Given the description of an element on the screen output the (x, y) to click on. 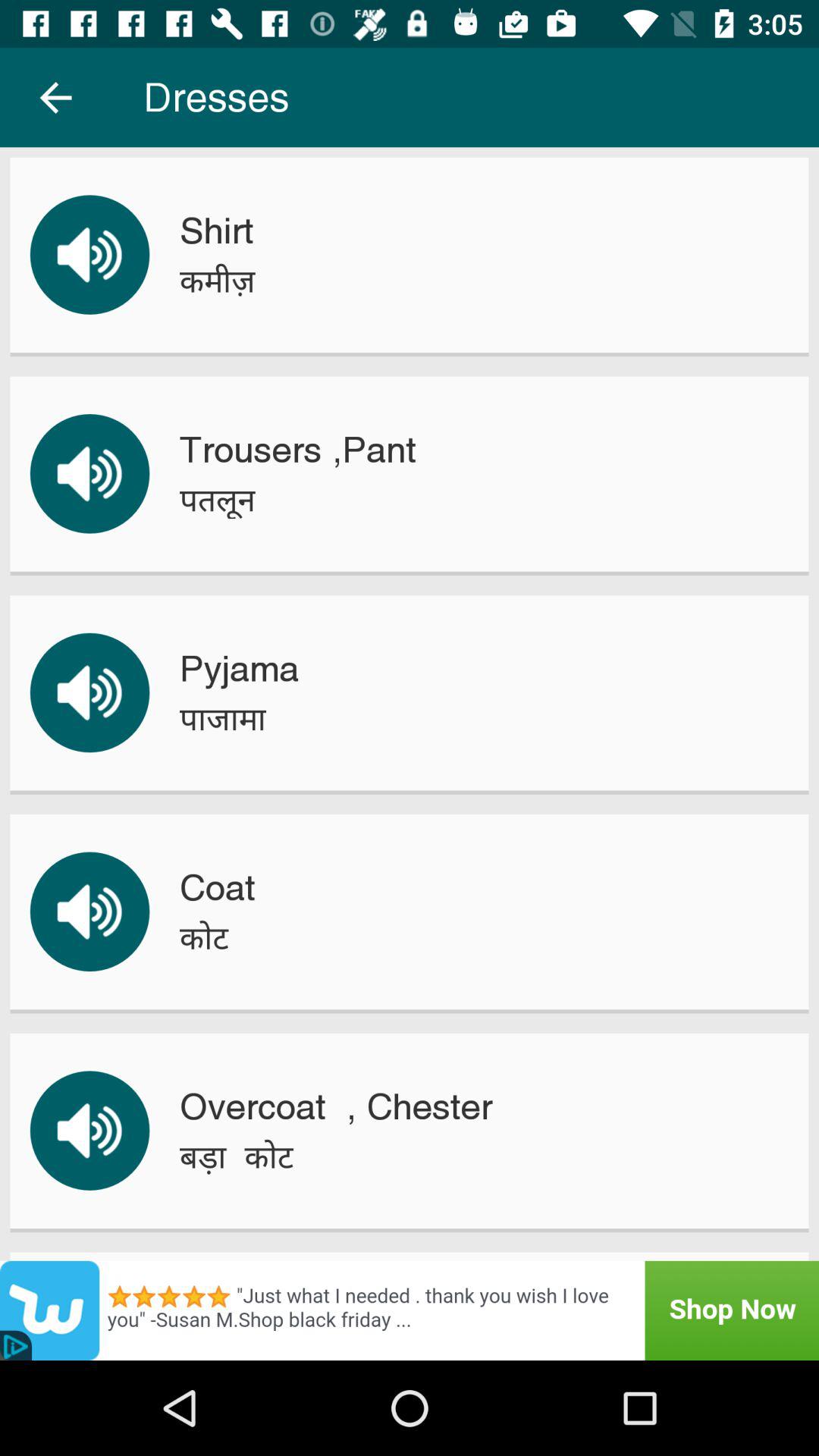
turn on item below coat icon (203, 937)
